Given the description of an element on the screen output the (x, y) to click on. 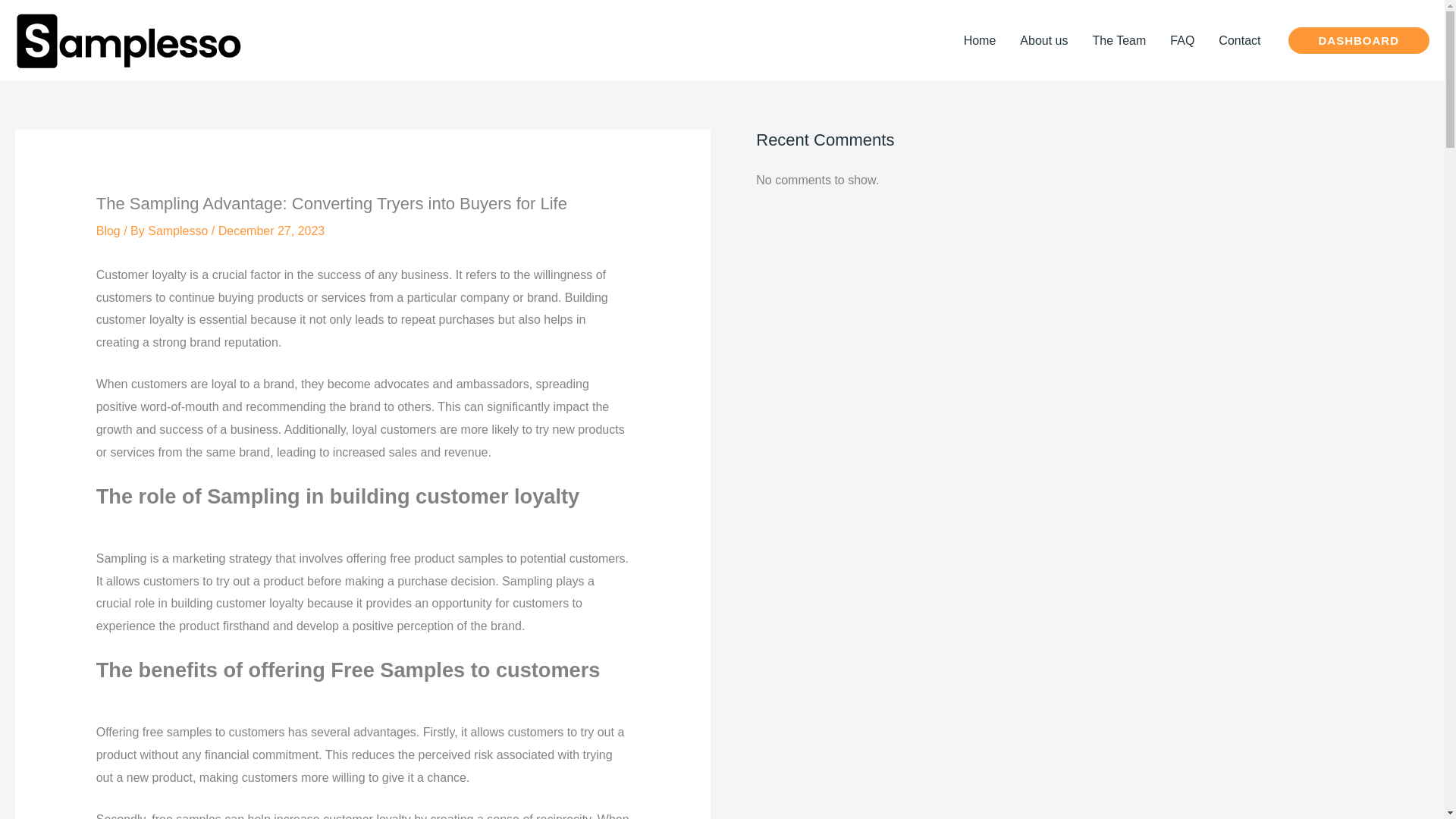
Contact (1239, 39)
FAQ (1182, 39)
About us (1043, 39)
The Team (1118, 39)
Samplesso (178, 230)
Blog (108, 230)
Home (980, 39)
View all posts by Samplesso (178, 230)
DASHBOARD (1358, 40)
